Given the description of an element on the screen output the (x, y) to click on. 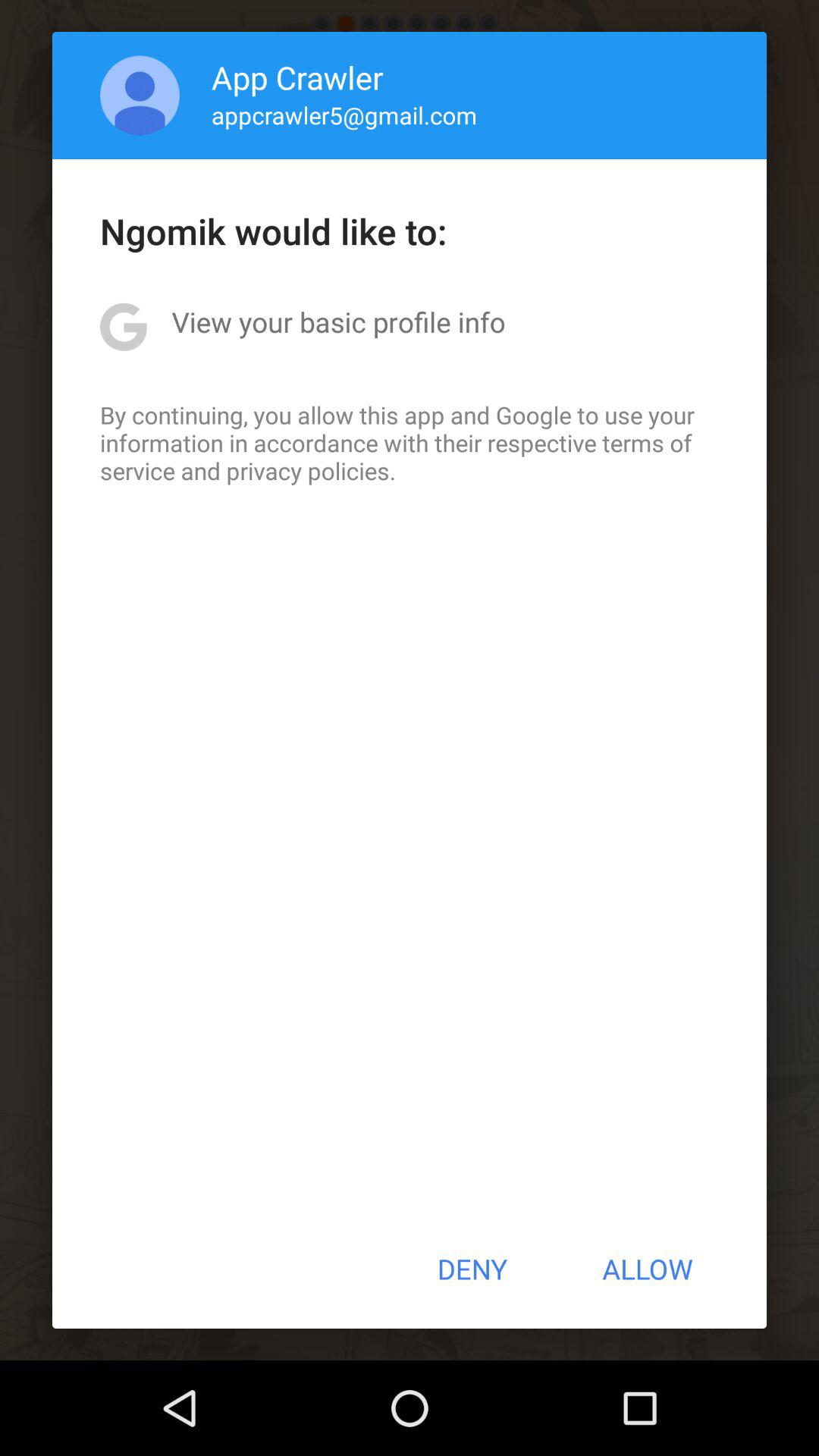
turn on the appcrawler5@gmail.com app (344, 114)
